Given the description of an element on the screen output the (x, y) to click on. 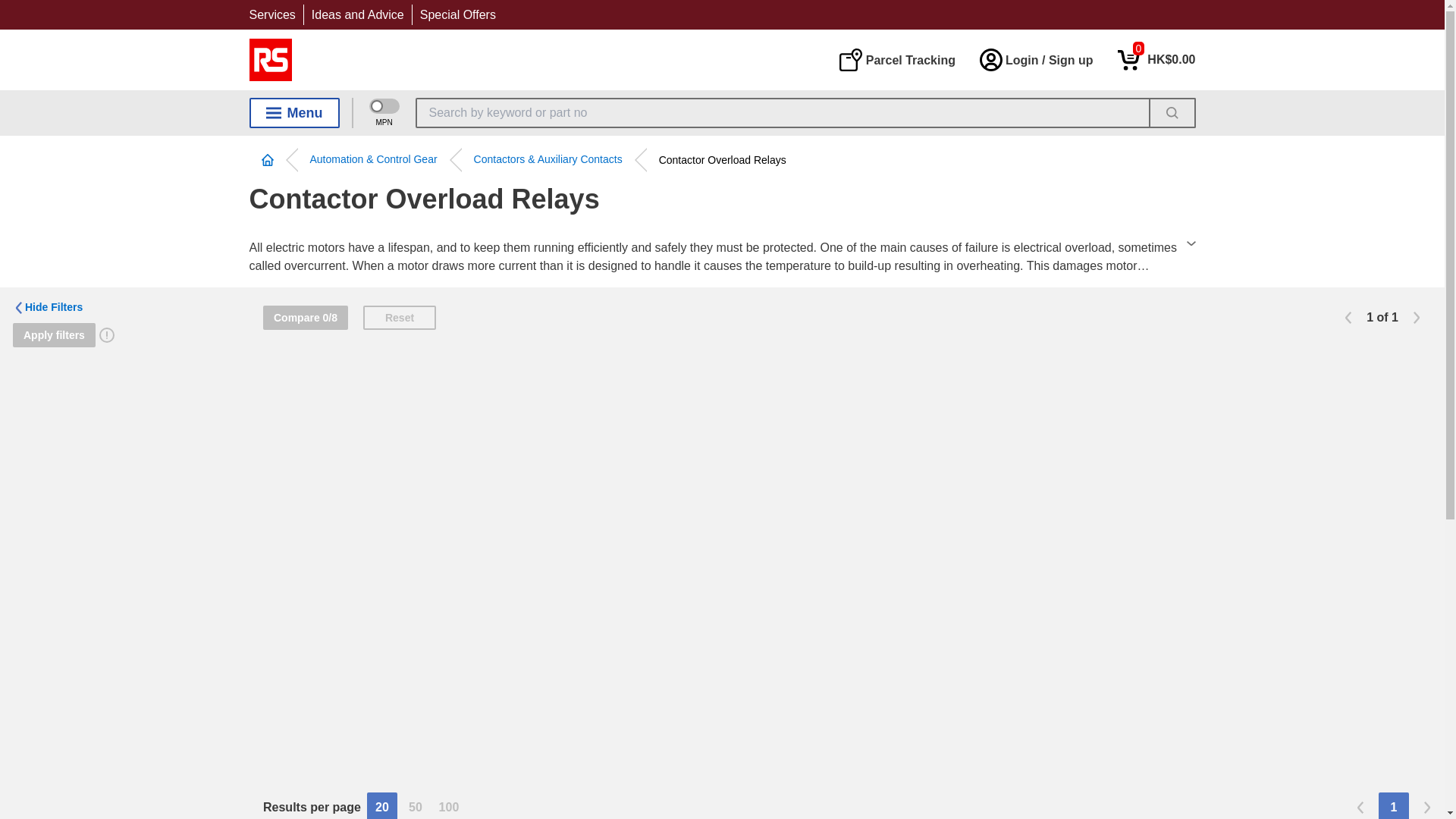
Services (271, 14)
Ideas and Advice (357, 14)
Menu (293, 112)
Parcel Tracking (896, 59)
Special Offers (458, 14)
0 (1156, 59)
